Given the description of an element on the screen output the (x, y) to click on. 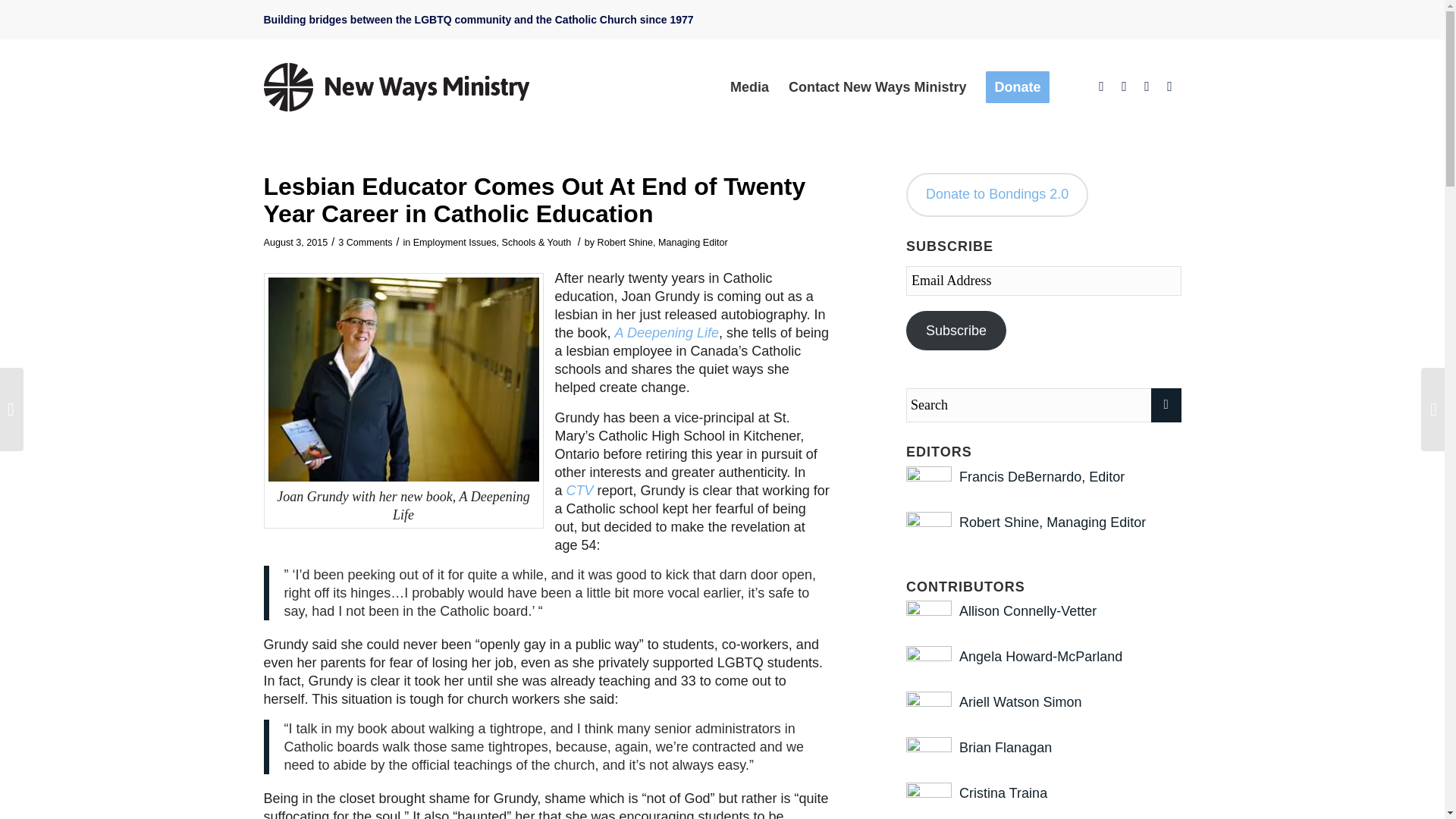
CTV (580, 490)
Robert Shine, Managing Editor (662, 242)
Employment Issues (454, 242)
Contact New Ways Ministry (876, 87)
3 Comments (364, 242)
Facebook (1101, 86)
A Deepening Life (666, 332)
Mail (1169, 86)
Posts by Robert Shine, Managing Editor (662, 242)
Instagram (1146, 86)
